Given the description of an element on the screen output the (x, y) to click on. 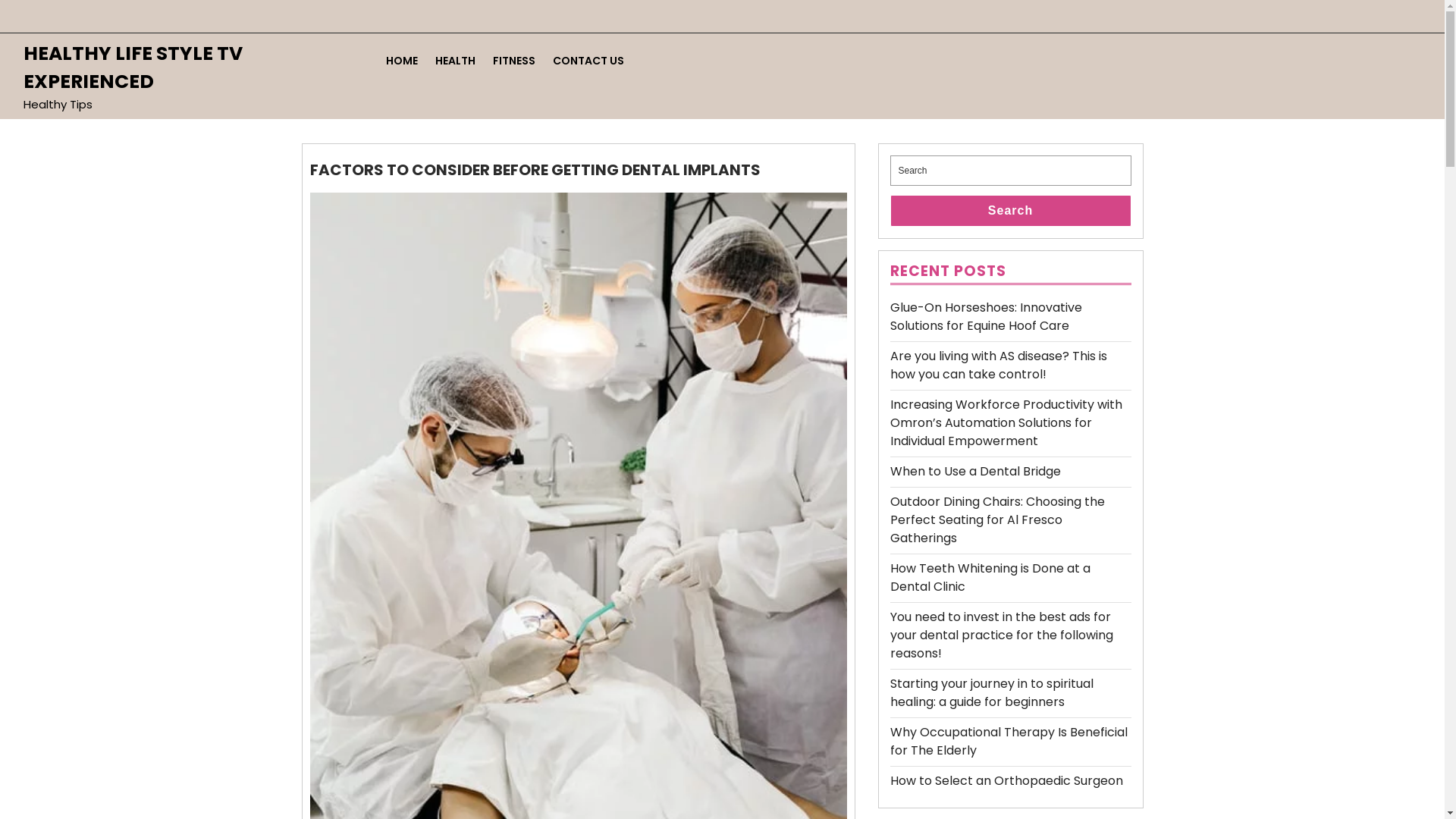
HEALTHY LIFE STYLE TV EXPERIENCED Element type: text (132, 66)
When to Use a Dental Bridge Element type: text (975, 471)
How to Select an Orthopaedic Surgeon Element type: text (1006, 780)
Why Occupational Therapy Is Beneficial for The Elderly Element type: text (1008, 741)
FITNESS Element type: text (513, 60)
CONTACT US Element type: text (588, 60)
HEALTH Element type: text (455, 60)
How Teeth Whitening is Done at a Dental Clinic Element type: text (990, 577)
Search Element type: text (1010, 210)
HOME Element type: text (401, 60)
